Given the description of an element on the screen output the (x, y) to click on. 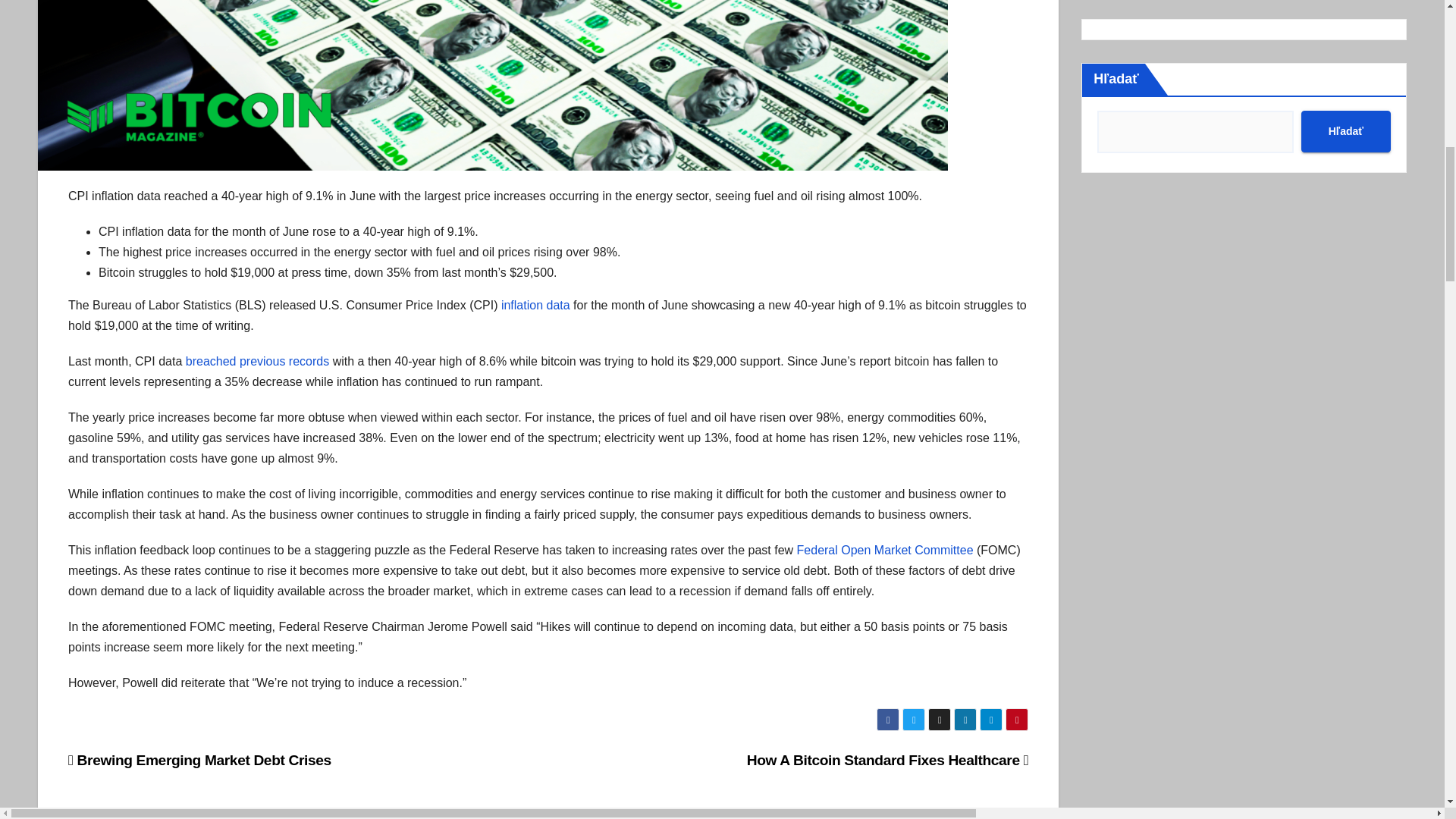
Brewing Emerging Market Debt Crises (199, 760)
inflation data (535, 305)
Federal Open Market Committee (885, 549)
breached previous records (257, 360)
How A Bitcoin Standard Fixes Healthcare (887, 760)
